Given the description of an element on the screen output the (x, y) to click on. 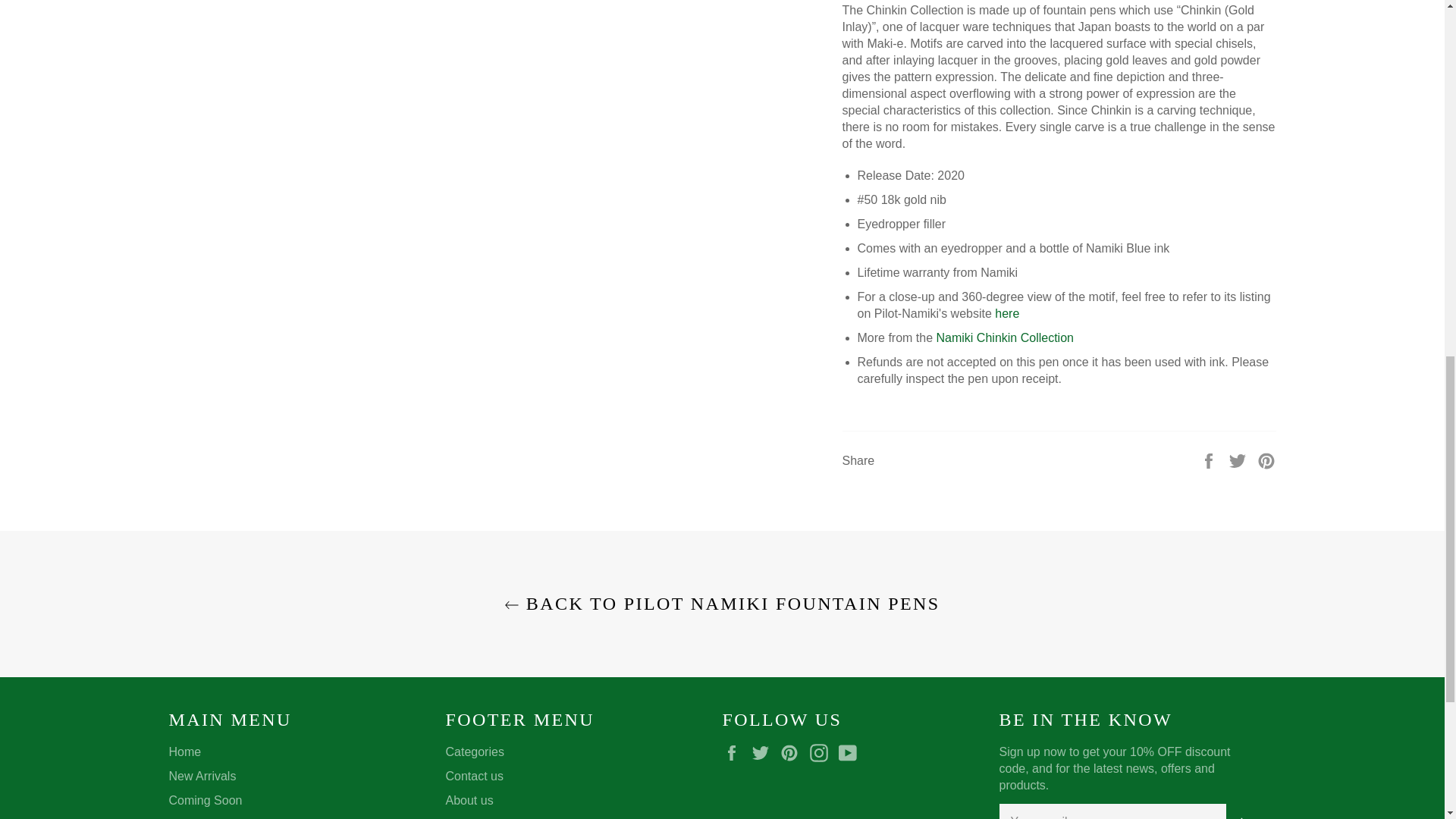
Yoseka Stationery on Facebook (735, 752)
Yoseka Stationery on Twitter (764, 752)
Yoseka Stationery on YouTube (851, 752)
Pin on Pinterest (1266, 459)
Yoseka Stationery on Instagram (822, 752)
Tweet on Twitter (1238, 459)
Share on Facebook (1210, 459)
Yoseka Stationery on Pinterest (793, 752)
